Given the description of an element on the screen output the (x, y) to click on. 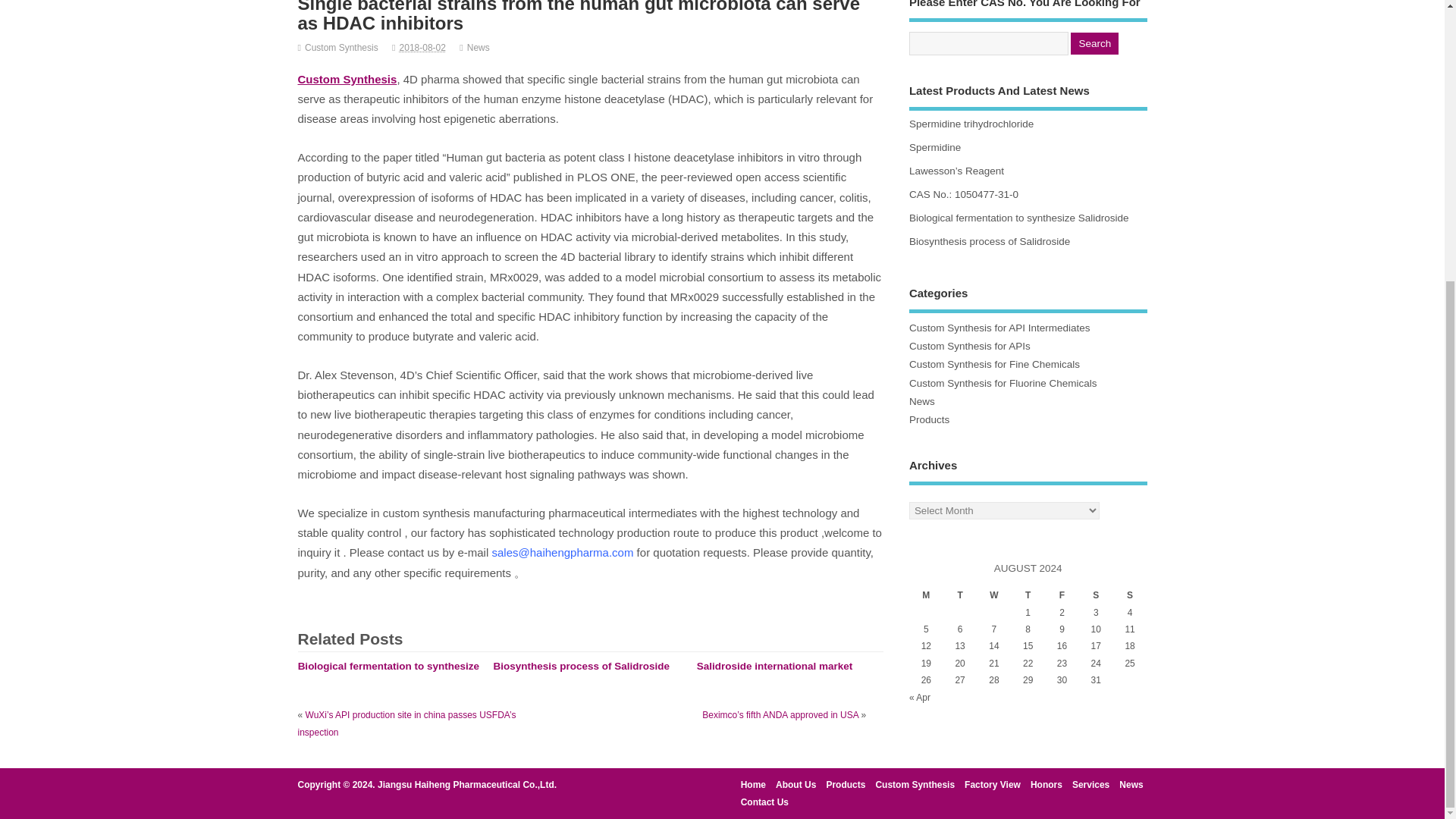
Salidroside international market information (775, 673)
Spermidine (934, 147)
Search (1094, 43)
Custom Synthesis (346, 78)
Wednesday (993, 595)
Biosynthesis process of Salidroside (581, 665)
Posts by Custom Synthesis (341, 47)
News (478, 47)
Biosynthesis process of Salidroside (581, 665)
Biological fermentation to synthesize Salidroside (388, 673)
